Given the description of an element on the screen output the (x, y) to click on. 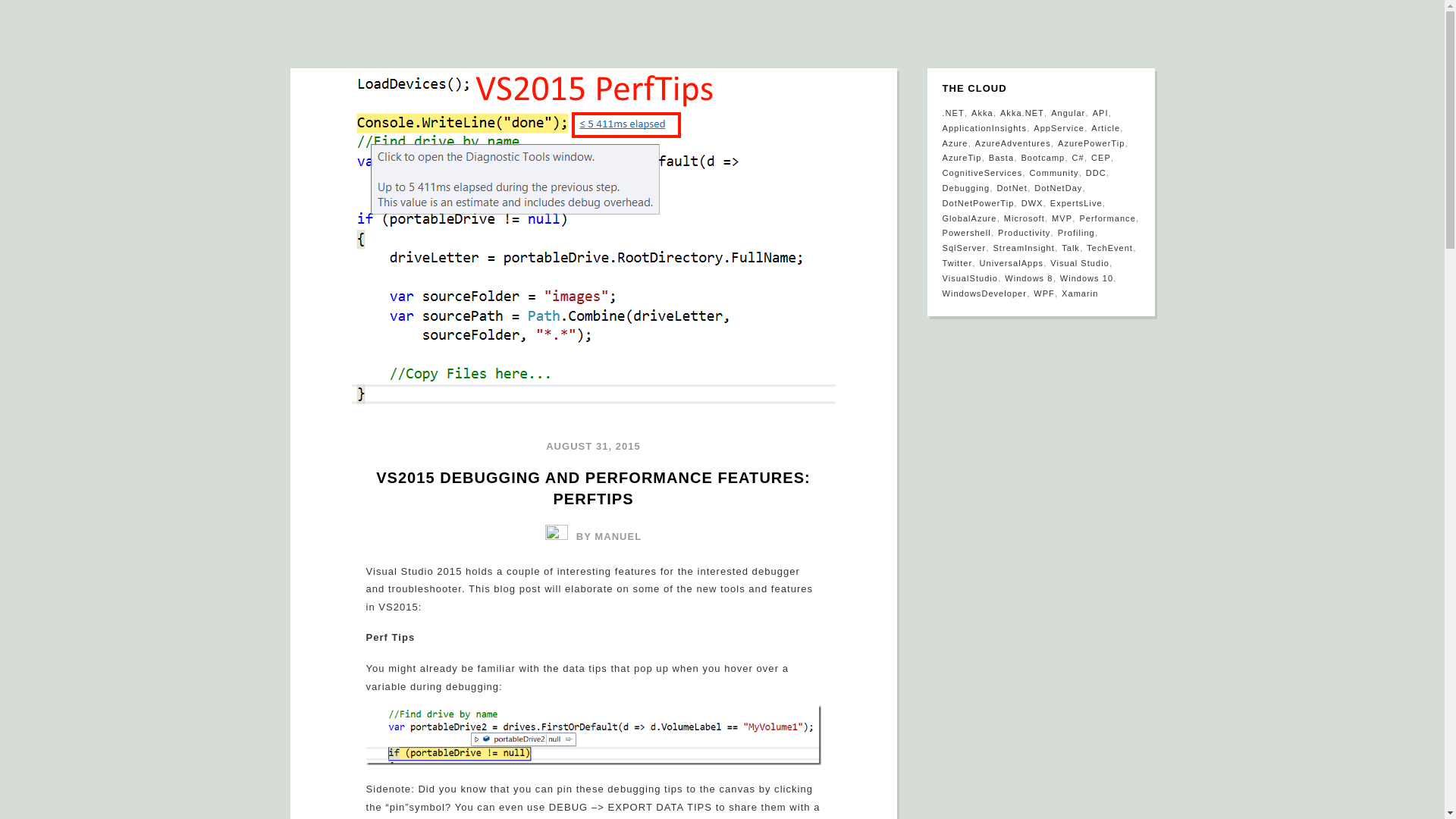
BY MANUEL (593, 535)
ApplicationInsights (984, 127)
AppService (1058, 127)
.NET (952, 112)
API (1100, 112)
Angular (1067, 112)
image (593, 734)
Article (1104, 127)
Akka (981, 112)
Azure (955, 143)
